Given the description of an element on the screen output the (x, y) to click on. 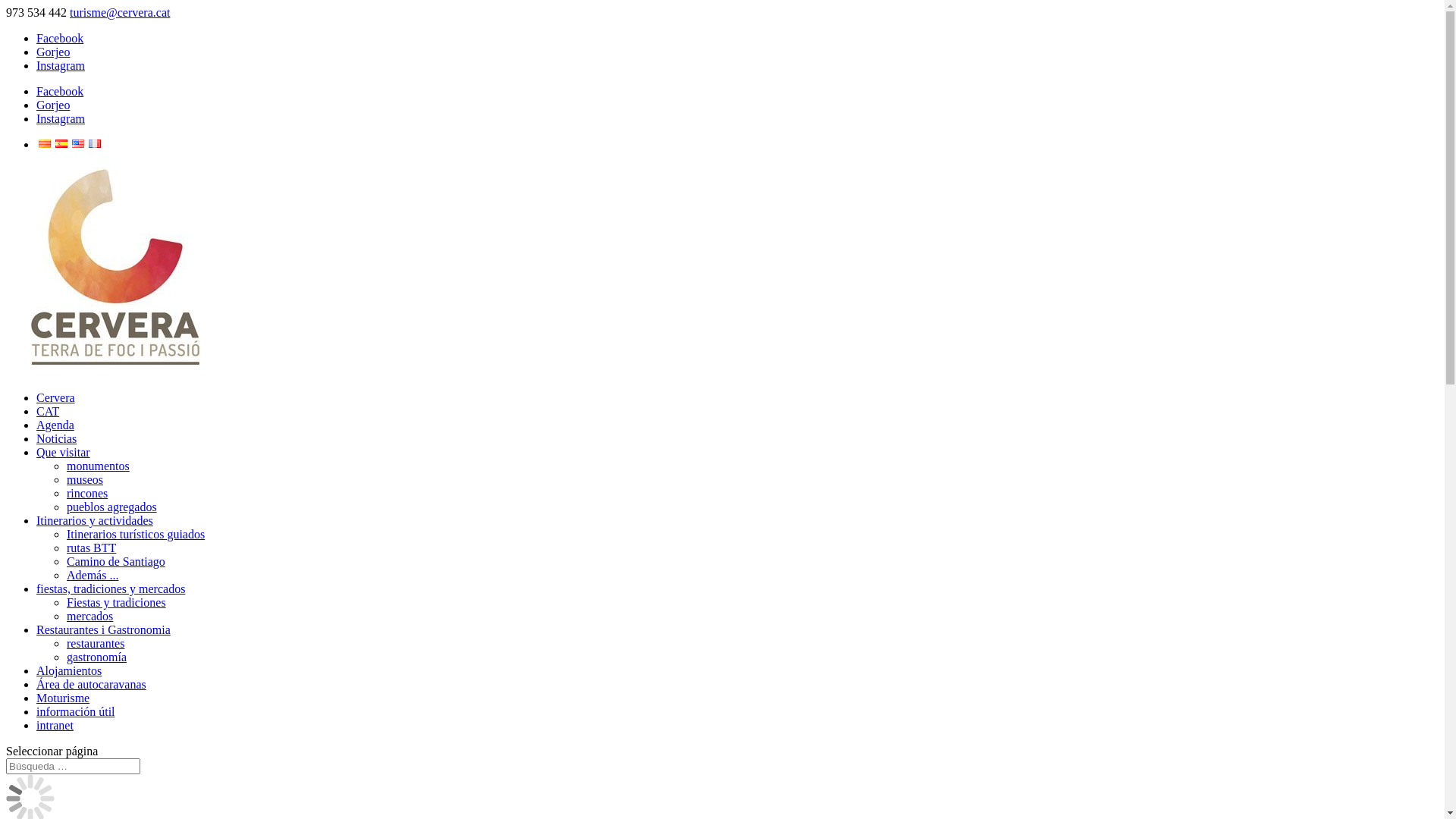
Itinerarios y actividades Element type: text (94, 520)
Que visitar Element type: text (63, 451)
restaurantes Element type: text (95, 643)
Gorjeo Element type: text (52, 51)
pueblos agregados Element type: text (111, 506)
Cervera Element type: text (55, 397)
CAT Element type: text (47, 410)
monumentos Element type: text (97, 465)
Agenda Element type: text (55, 424)
Moturisme Element type: text (62, 697)
Facebook Element type: text (59, 90)
rutas BTT Element type: text (91, 547)
Instagram Element type: text (60, 65)
Fiestas y tradiciones Element type: text (116, 602)
Buscar: Element type: hover (73, 766)
Facebook Element type: text (59, 37)
rincones Element type: text (86, 492)
Noticias Element type: text (56, 438)
Camino de Santiago Element type: text (115, 561)
Instagram Element type: text (60, 118)
Gorjeo Element type: text (52, 104)
intranet Element type: text (54, 724)
turisme@cervera.cat Element type: text (119, 12)
English Element type: hover (77, 143)
mercados Element type: text (89, 615)
fiestas, tradiciones y mercados Element type: text (110, 588)
Restaurantes i Gastronomia Element type: text (103, 629)
museos Element type: text (84, 479)
Alojamientos Element type: text (68, 670)
